Given the description of an element on the screen output the (x, y) to click on. 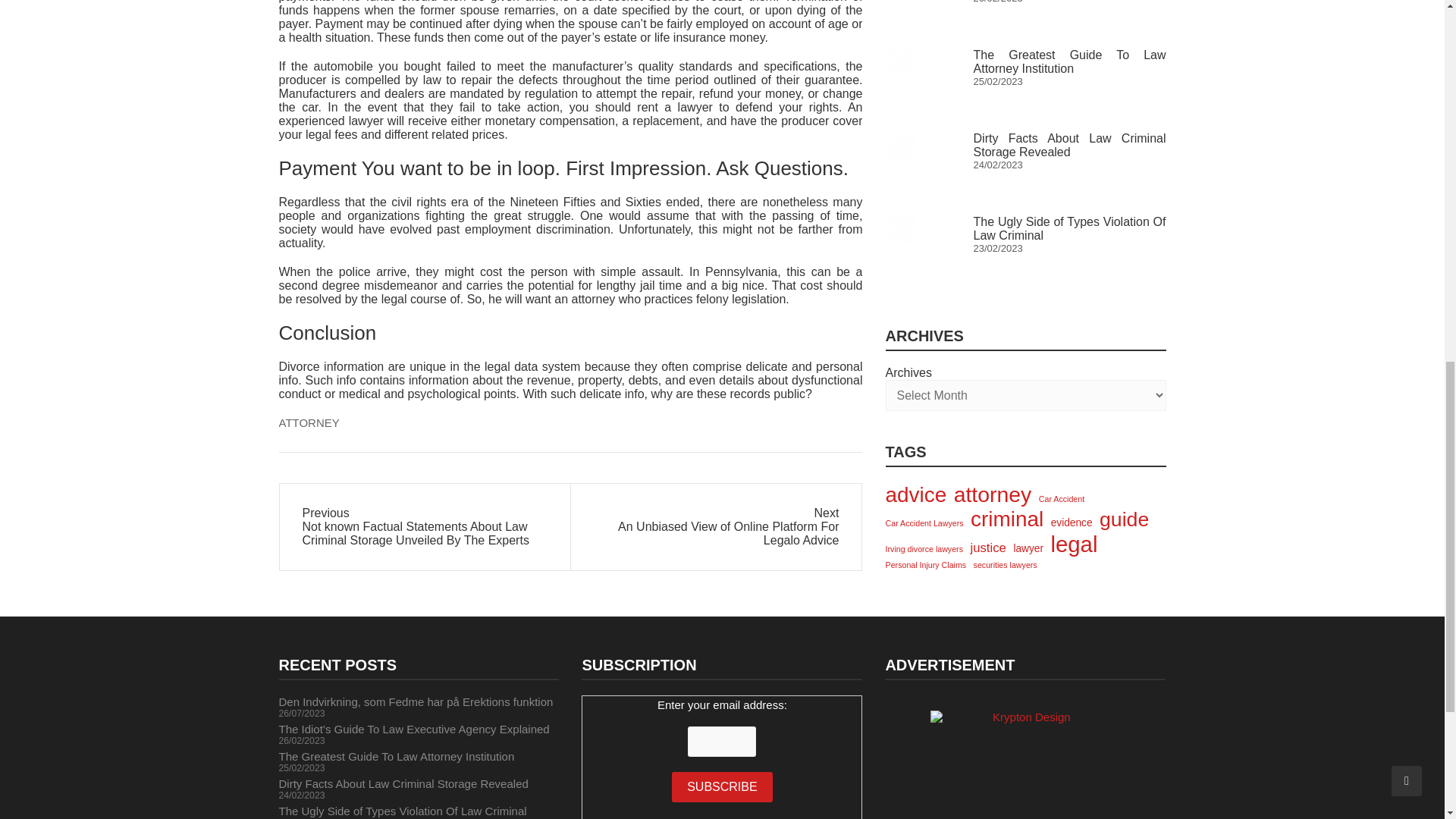
The Ugly Side of Types Violation Of Law Criminal (899, 20)
ATTORNEY (309, 422)
The Ugly Side of Types Violation Of Law Criminal (1070, 18)
Subscribe (721, 787)
Krypton Design (1024, 764)
